Given the description of an element on the screen output the (x, y) to click on. 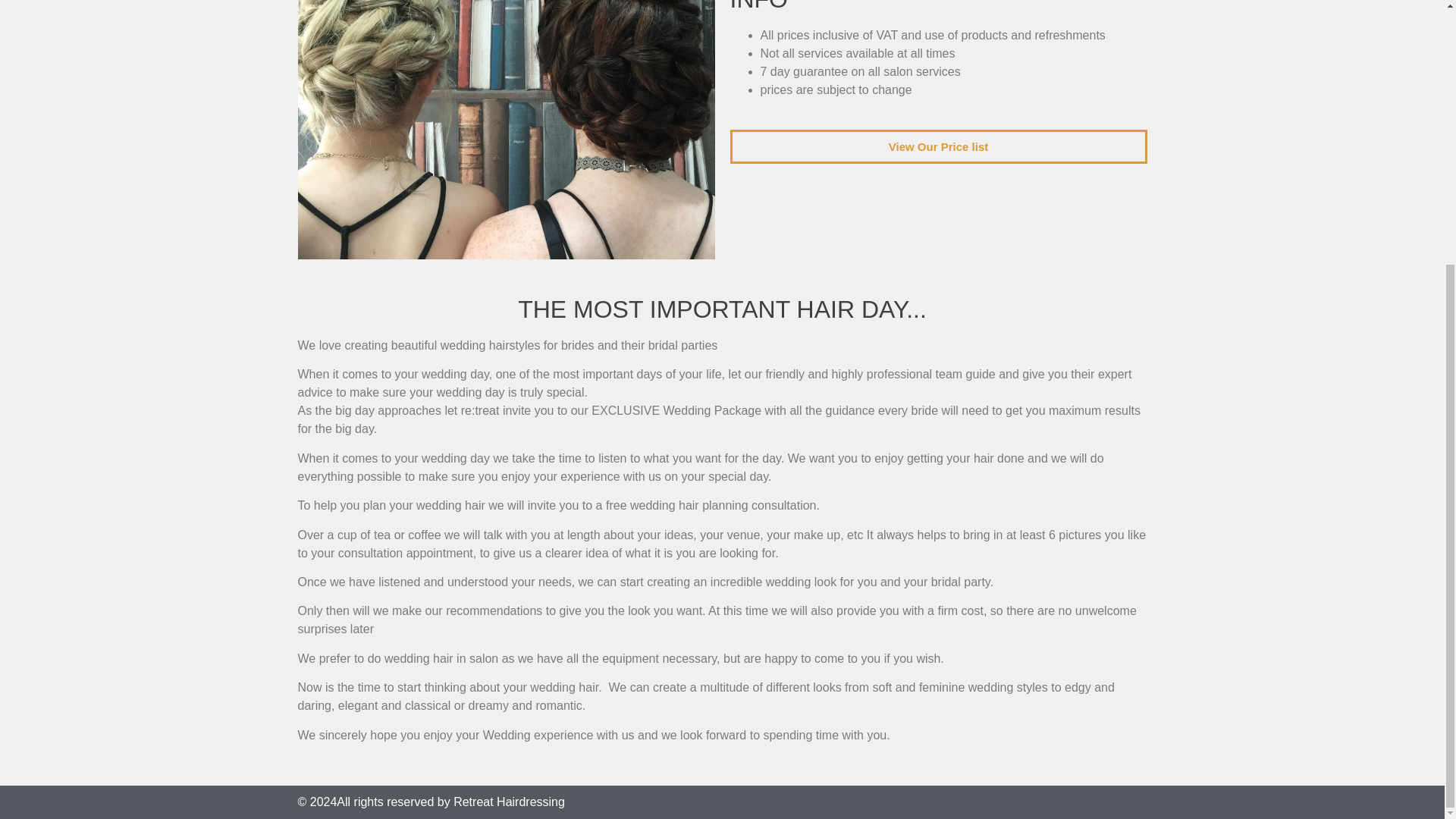
View Our Price list (938, 146)
